Given the description of an element on the screen output the (x, y) to click on. 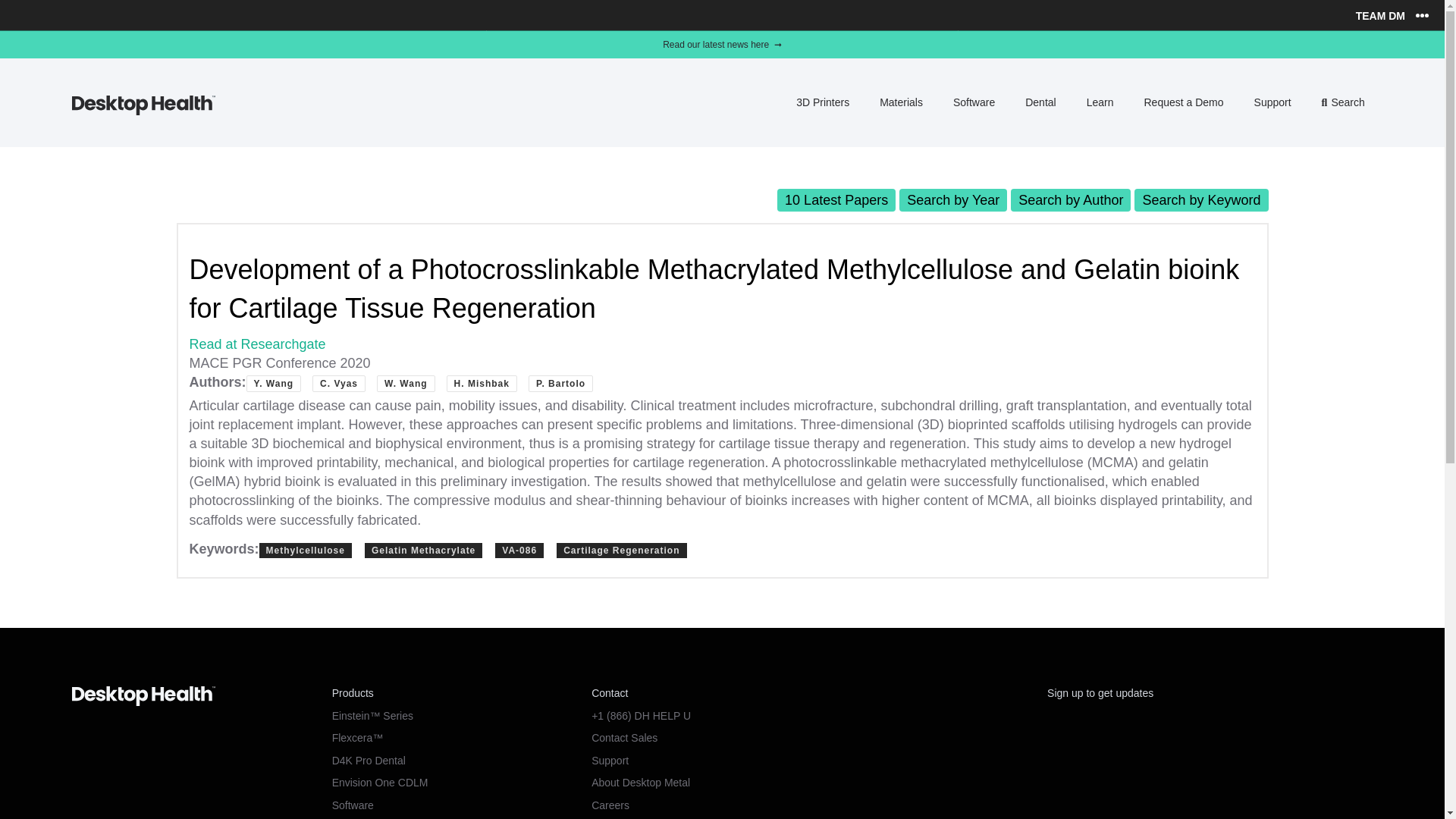
Search by Keyword (1201, 200)
Search by Author (1070, 200)
3D Printers (823, 102)
Request a Demo (1182, 102)
Desktop Health - Home (143, 111)
Read at Researchgate (257, 344)
Dental (1039, 102)
Software (973, 102)
10 Latest Papers (836, 200)
Learn (1099, 102)
Form 0 (1209, 771)
Search (1343, 102)
Materials (901, 102)
Support (1272, 102)
Search by Year (953, 200)
